Given the description of an element on the screen output the (x, y) to click on. 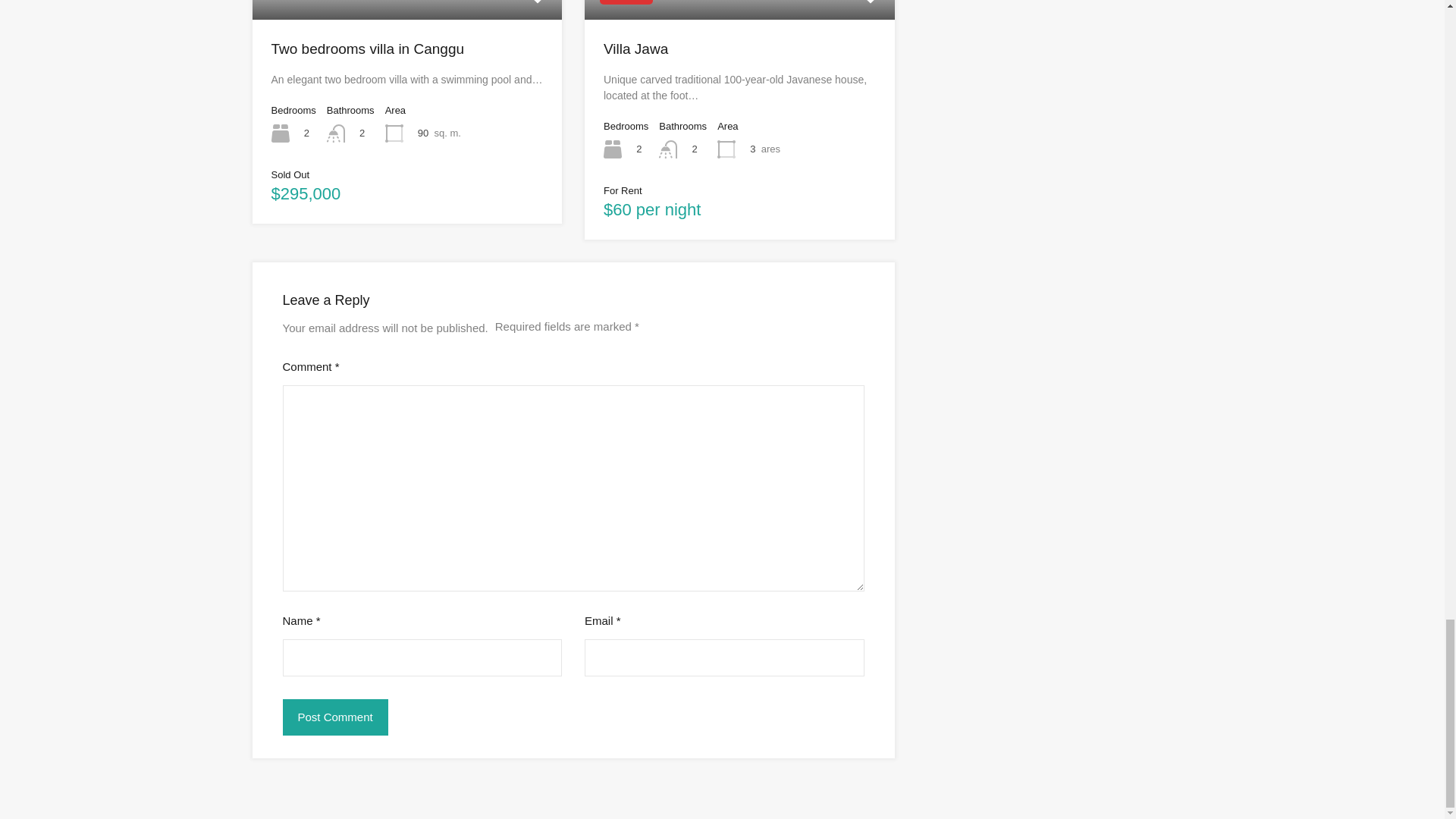
Post Comment (334, 717)
